Given the description of an element on the screen output the (x, y) to click on. 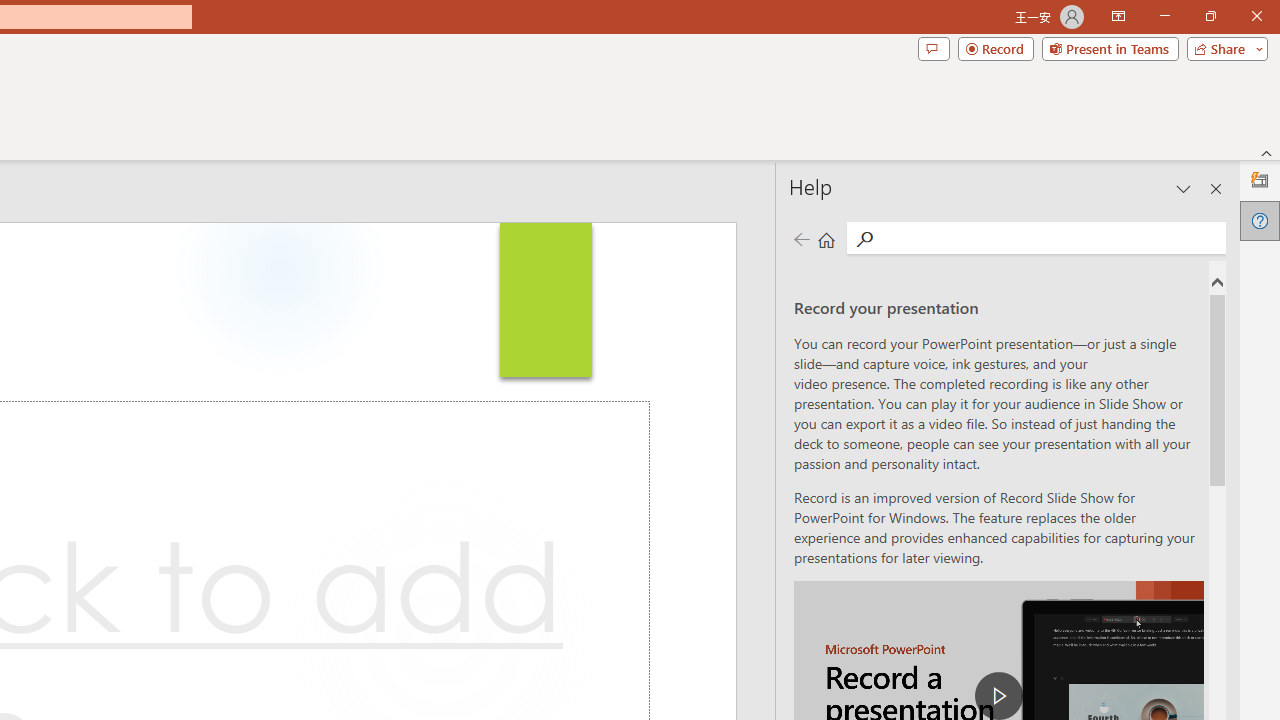
Comments (933, 48)
Help (1260, 220)
Designer (1260, 180)
Task Pane Options (1183, 188)
